Given the description of an element on the screen output the (x, y) to click on. 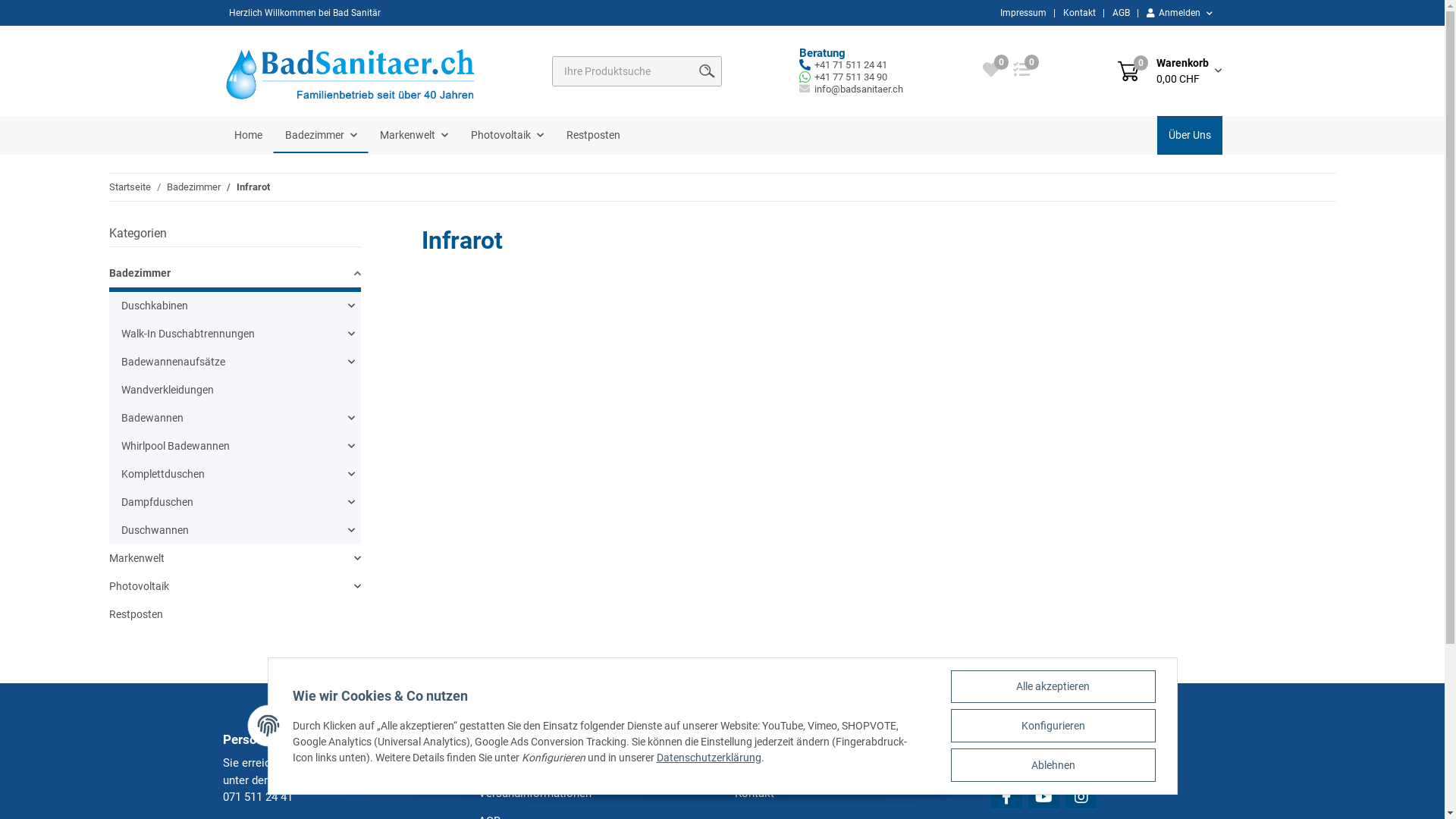
Facebook Element type: hover (1006, 796)
Restposten Element type: text (235, 614)
Home Element type: text (247, 135)
Restposten Element type: text (593, 135)
info@badsanitaer.ch Element type: text (858, 89)
Badezimmer Element type: text (139, 273)
Duschwannen Element type: text (154, 530)
Unser Unternehmen Element type: text (850, 765)
Wandverkleidungen Element type: text (238, 390)
Startseite Element type: text (129, 186)
Kontakt Element type: text (850, 793)
Badewannen Element type: text (152, 418)
Badezimmer Element type: text (193, 186)
+41 71 511 24 41 Element type: text (850, 64)
Dampfduschen Element type: text (157, 502)
Whirlpool Badewannen Element type: text (175, 446)
0 Element type: text (1021, 71)
0 Element type: text (990, 71)
Alle akzeptieren Element type: text (1052, 686)
Ablehnen Element type: text (1052, 764)
Markenwelt Element type: text (413, 135)
Walk-In Duschabtrennungen Element type: text (187, 334)
Konfigurieren Element type: text (1052, 725)
AGB Element type: text (1120, 12)
Anmelden Element type: text (1179, 12)
Instagram Element type: hover (1080, 796)
YouTube Element type: hover (1043, 796)
0
Warenkorb
0,00 CHF Element type: text (1169, 71)
Impressum Element type: text (1022, 12)
Markenwelt Element type: text (136, 558)
Versandinformationen Element type: text (594, 793)
BadSanitaer.ch Element type: hover (358, 70)
Duschkabinen Element type: text (154, 305)
Kontakt Element type: text (1079, 12)
Photovoltaik Element type: text (139, 586)
Komplettduschen Element type: text (162, 474)
+41 77 511 34 90 Element type: text (850, 76)
Badezimmer Element type: text (320, 135)
Photovoltaik Element type: text (507, 135)
Zahlungsarten Element type: text (594, 765)
Infrarot Element type: text (252, 186)
